Given the description of an element on the screen output the (x, y) to click on. 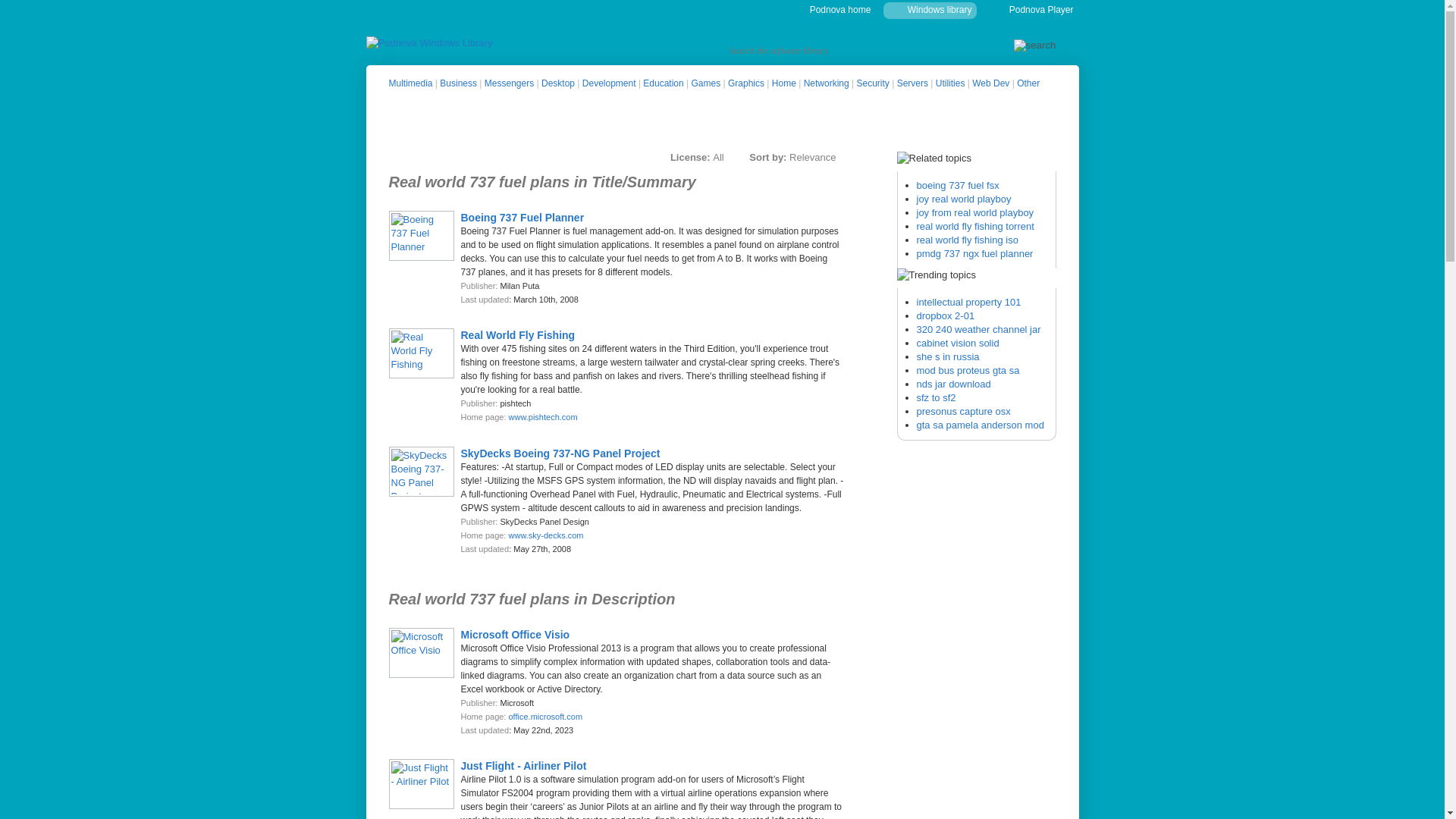
Games (705, 82)
Podnova Player (1041, 9)
Networking (825, 82)
Microsoft Office Visio (515, 633)
Podnova home (839, 9)
Utilities (950, 82)
www.sky-decks.com (545, 534)
Servers (912, 82)
Other (1027, 82)
Education (662, 82)
Security (872, 82)
Just Flight - Airliner Pilot (523, 766)
www.pishtech.com (542, 416)
Windows library (939, 9)
Boeing 737 Fuel Planner (523, 216)
